Given the description of an element on the screen output the (x, y) to click on. 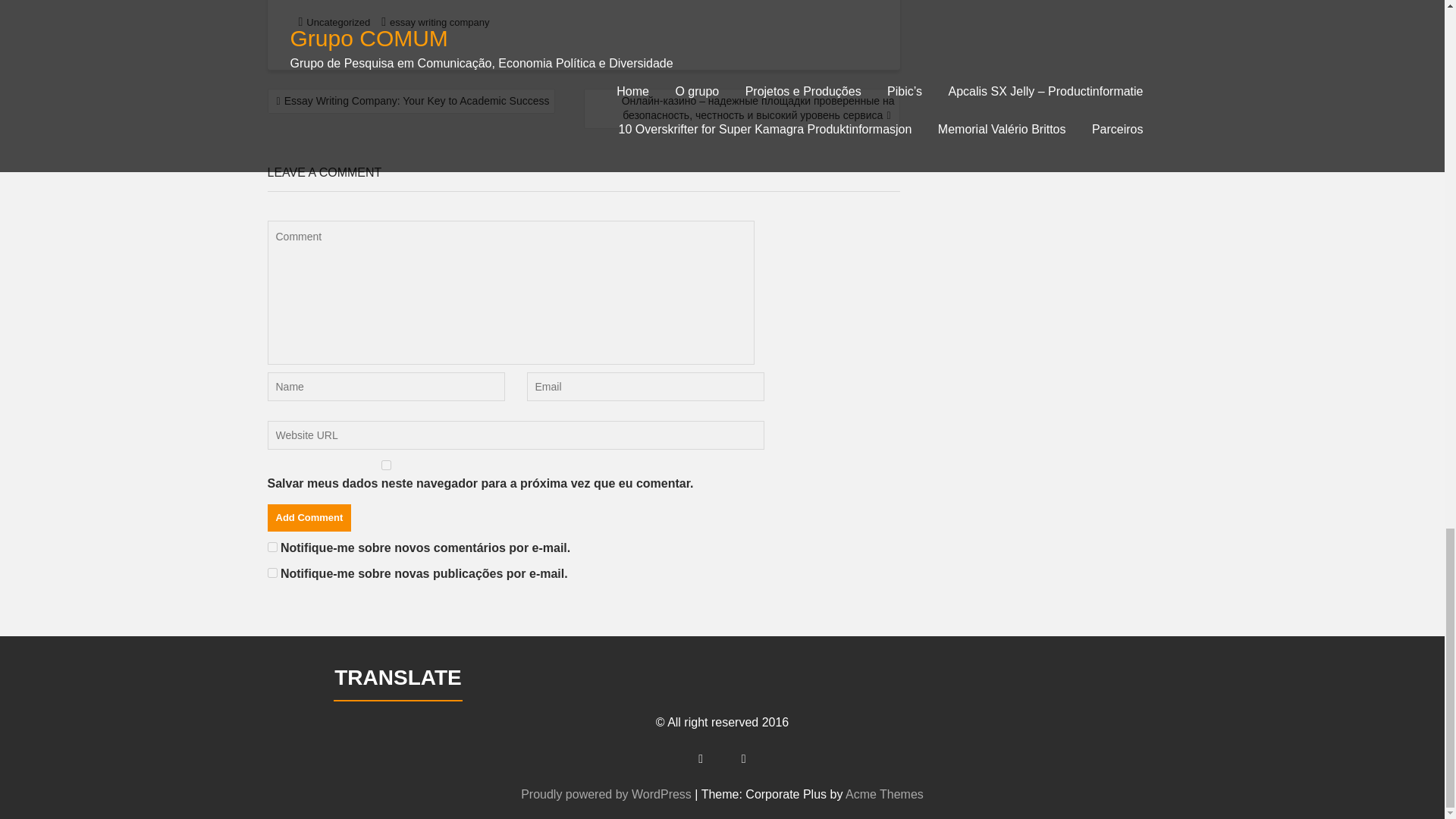
Add Comment (308, 517)
essay writing company (439, 21)
Add Comment (308, 517)
Essay Writing Company: Your Key to Academic Success (410, 101)
Proudly powered by WordPress (635, 793)
Acme Themes (905, 793)
yes (384, 465)
subscribe (271, 547)
Uncategorized (337, 21)
subscribe (271, 573)
